Given the description of an element on the screen output the (x, y) to click on. 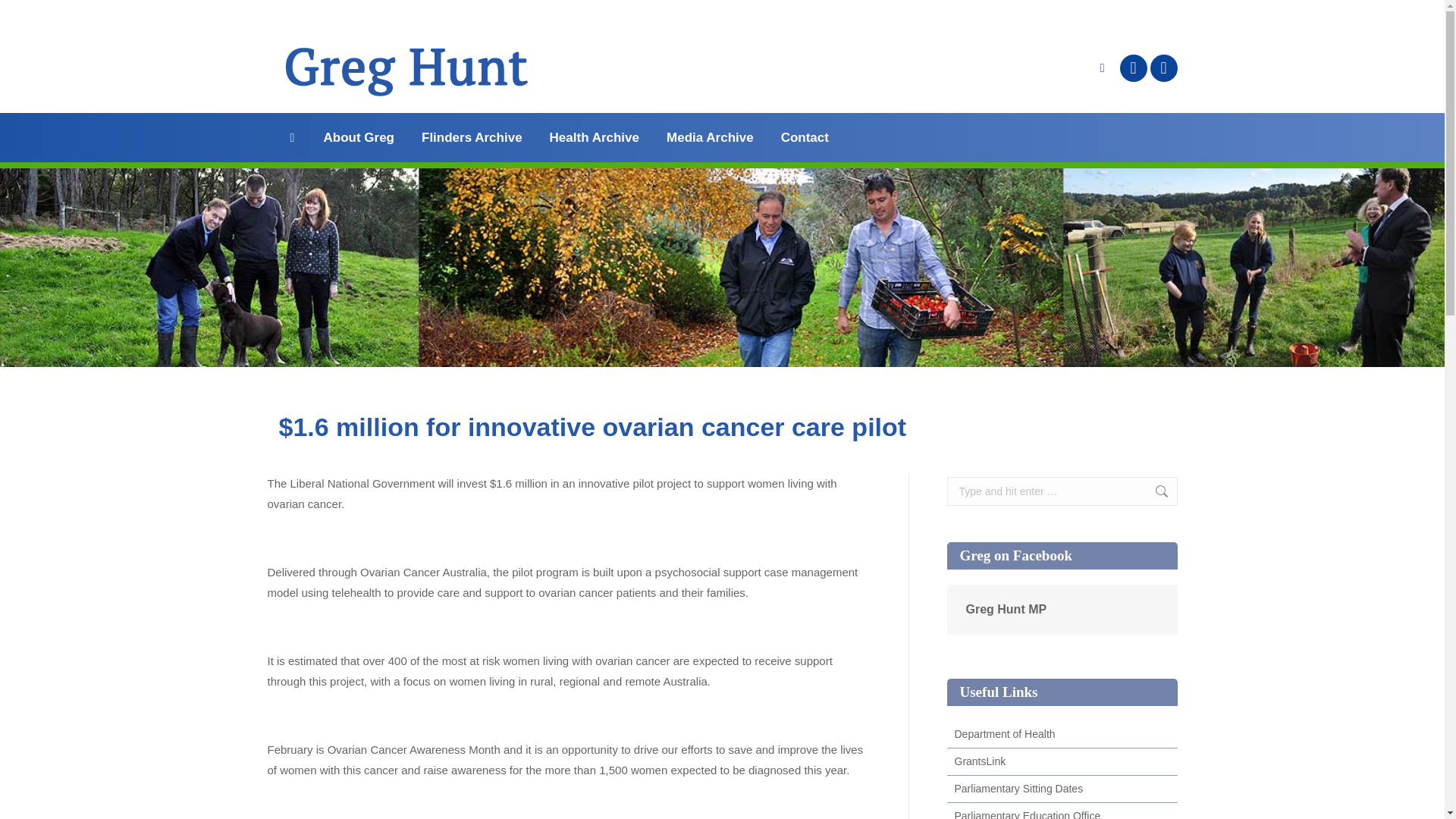
Go! (1153, 491)
X page opens in new window (1163, 67)
Contact (804, 137)
Go! (1153, 491)
Facebook page opens in new window (1133, 67)
Go! (24, 16)
Facebook page opens in new window (1133, 67)
Flinders Archive (472, 137)
Health Archive (594, 137)
About Greg (358, 137)
Media Archive (710, 137)
X page opens in new window (1163, 67)
